Given the description of an element on the screen output the (x, y) to click on. 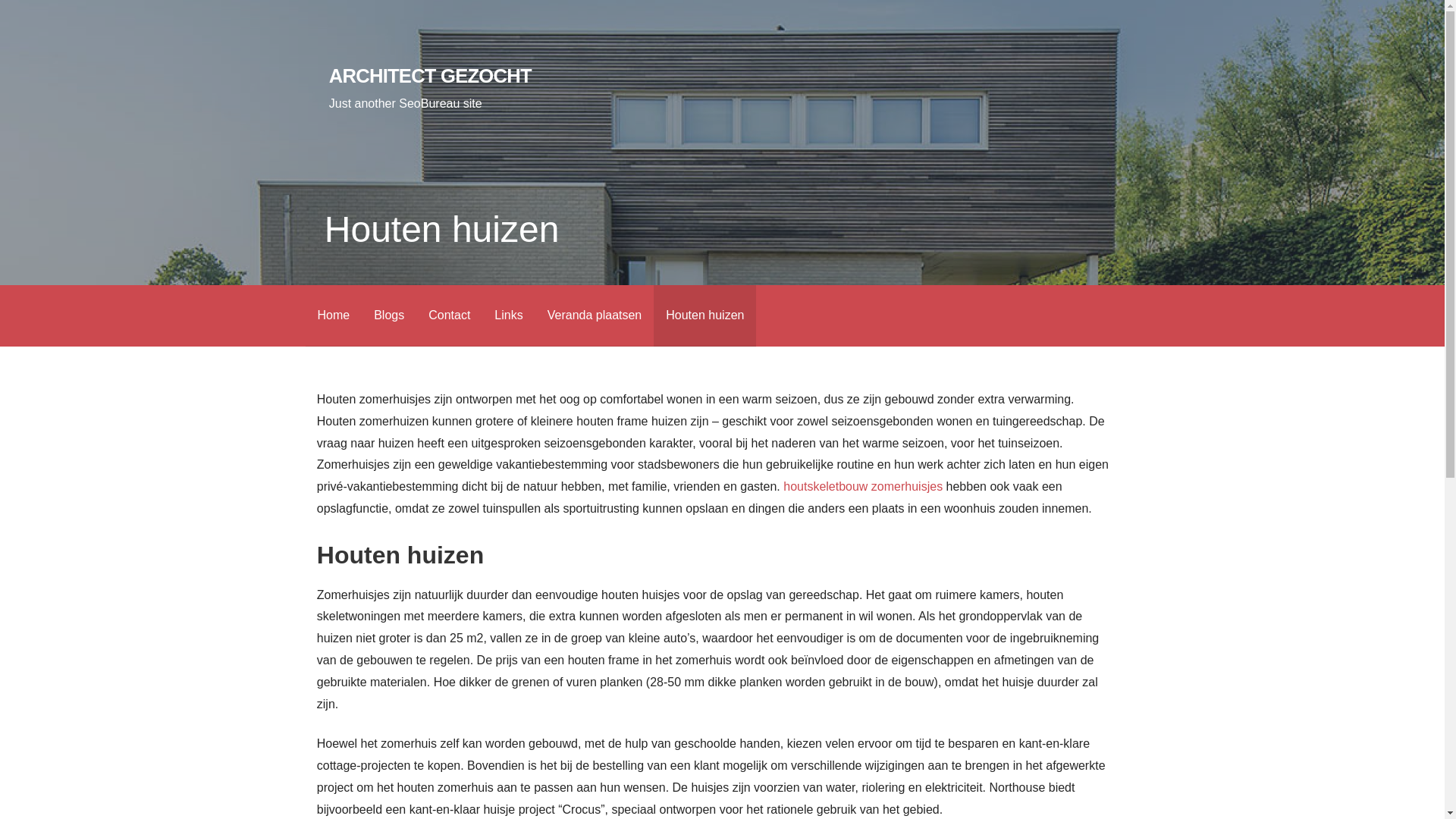
Blogs Element type: text (388, 315)
ARCHITECT GEZOCHT Element type: text (430, 75)
houtskeletbouw zomerhuisjes Element type: text (862, 486)
Veranda plaatsen Element type: text (594, 315)
Houten huizen Element type: text (704, 315)
Contact Element type: text (449, 315)
Home Element type: text (332, 315)
Links Element type: text (508, 315)
